Given the description of an element on the screen output the (x, y) to click on. 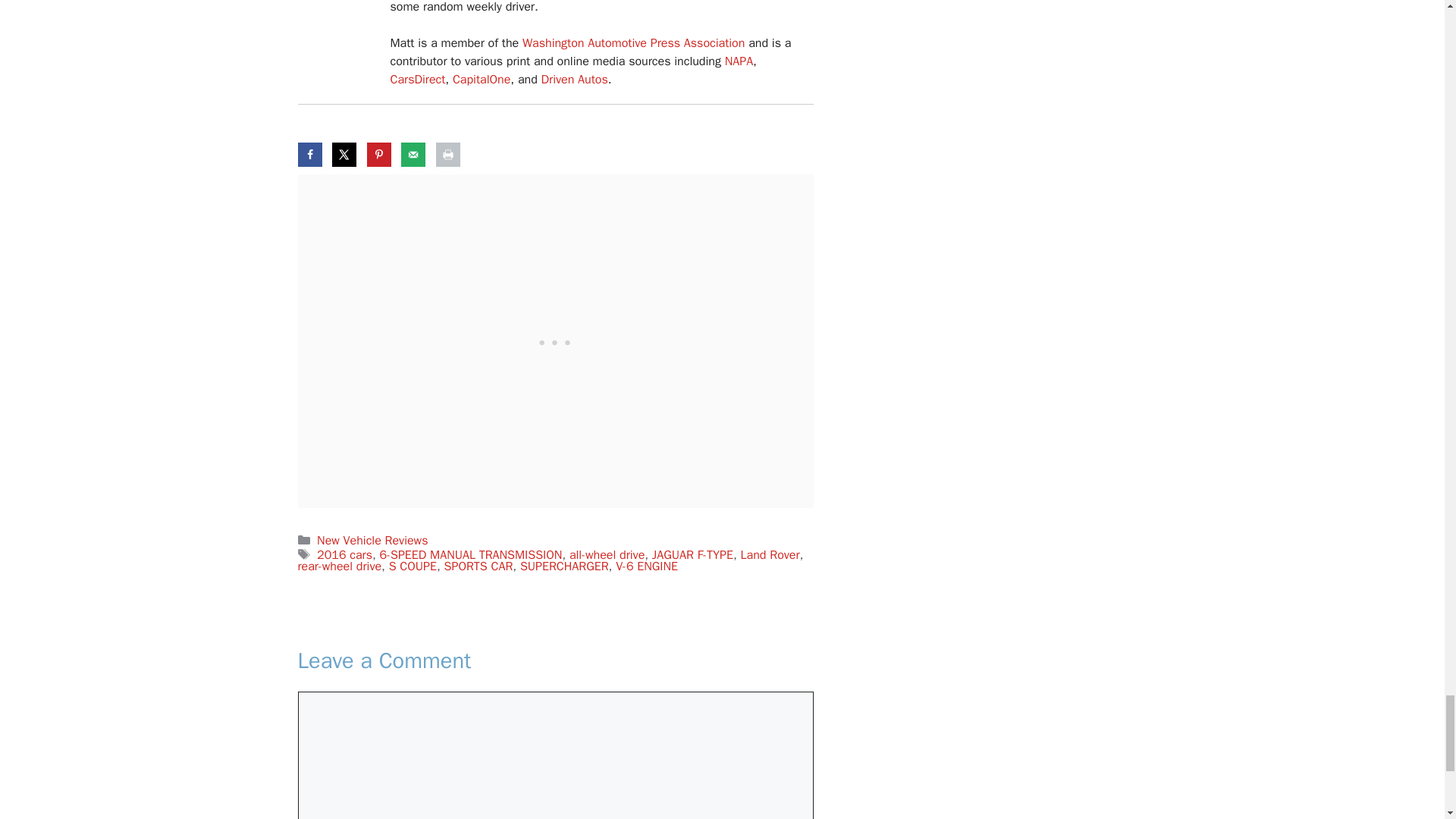
Driven Autos (574, 79)
CapitalOne (481, 79)
NAPA (738, 61)
Send over email (413, 154)
Share on Facebook (309, 154)
Share on X (343, 154)
Washington Automotive Press Association (633, 43)
CarsDirect (417, 79)
Print this webpage (447, 154)
Save to Pinterest (378, 154)
